Given the description of an element on the screen output the (x, y) to click on. 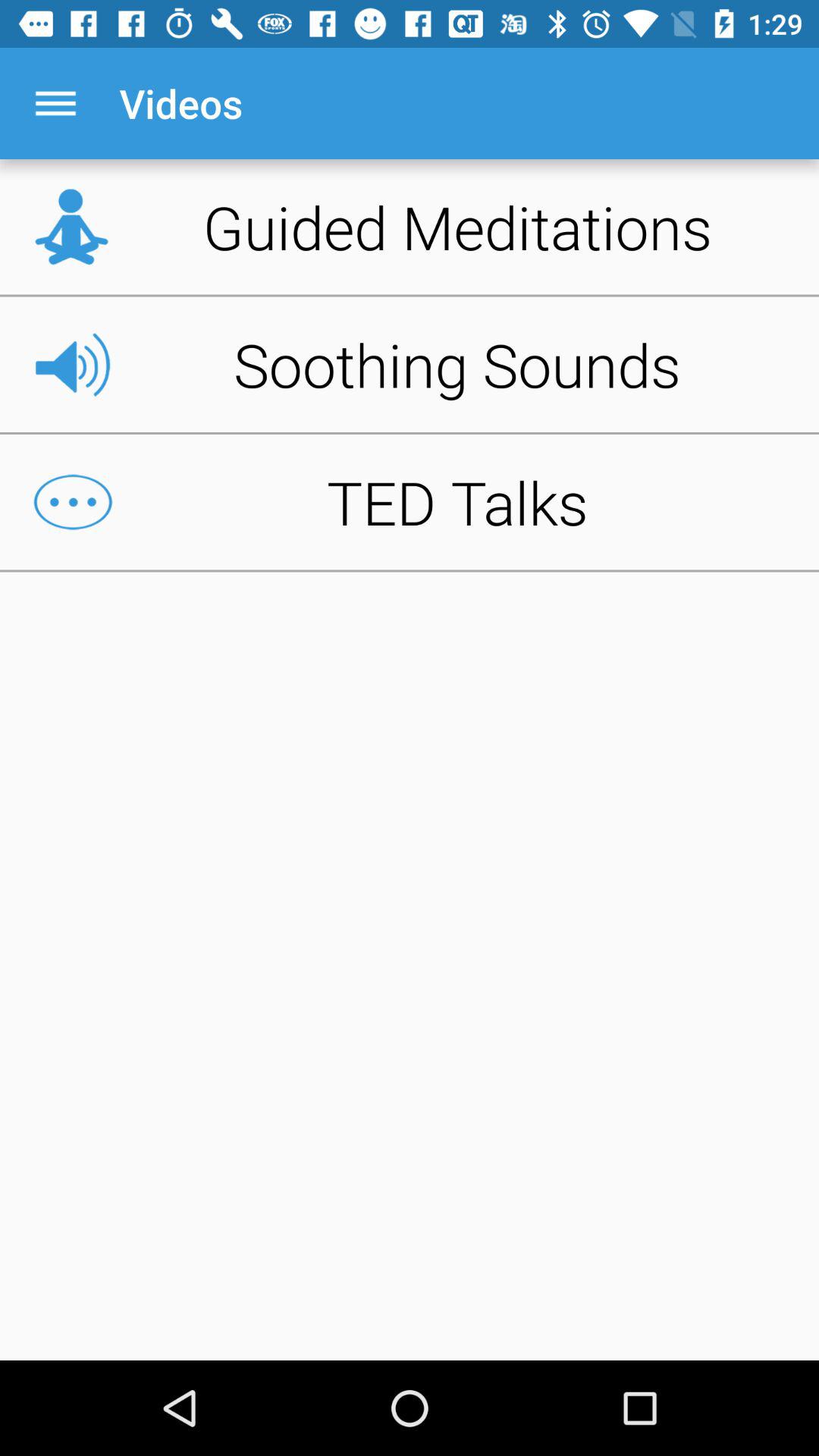
turn on soothing sounds (409, 364)
